Given the description of an element on the screen output the (x, y) to click on. 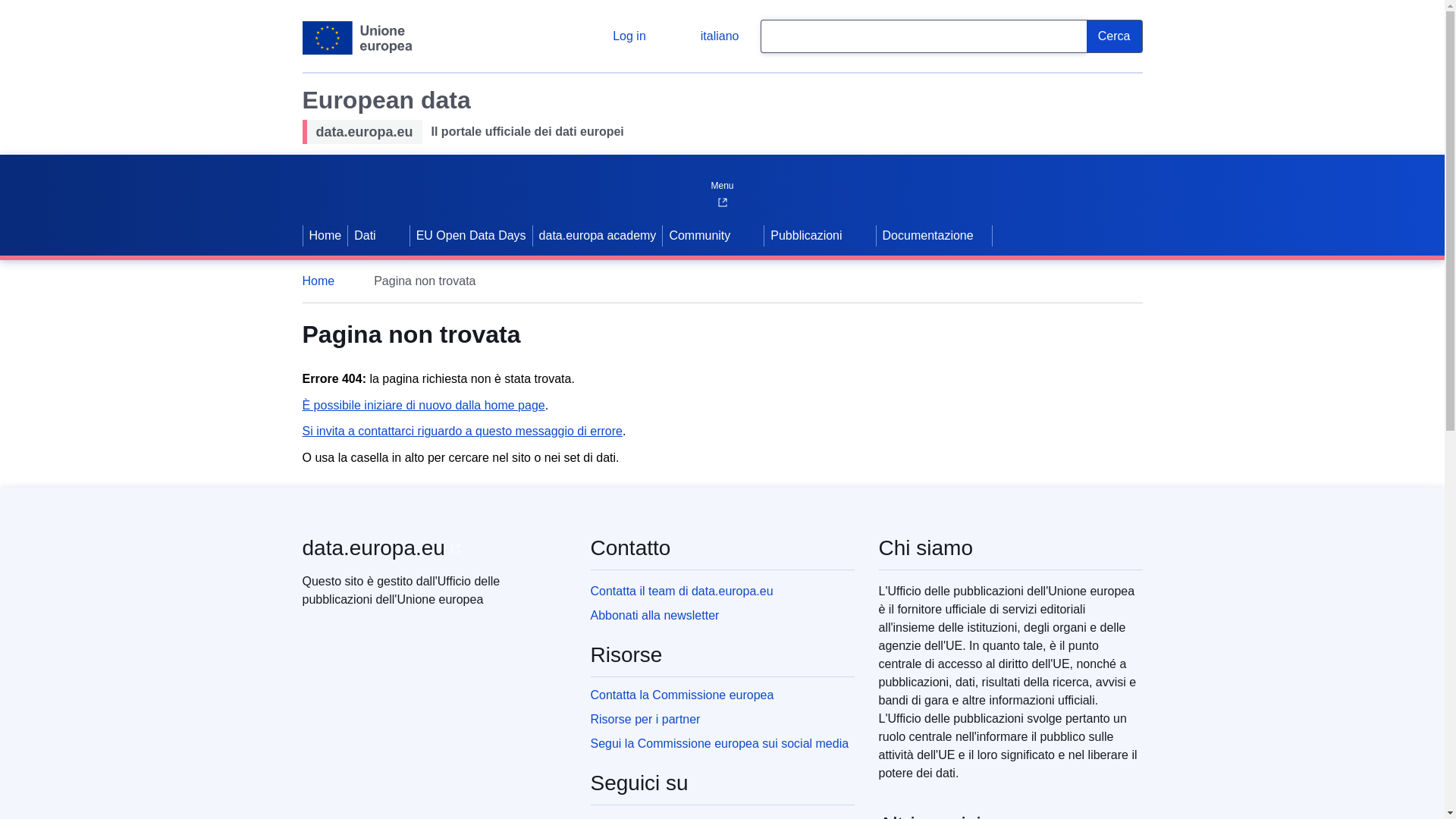
Log in (617, 36)
Cerca (1114, 36)
EU Open Data Days (471, 235)
Community (697, 235)
Home (325, 280)
data.europa academy (597, 235)
European Union (357, 37)
Documentazione (933, 235)
Menu (721, 181)
italiano (707, 36)
Pubblicazioni (804, 235)
Home (324, 235)
